Given the description of an element on the screen output the (x, y) to click on. 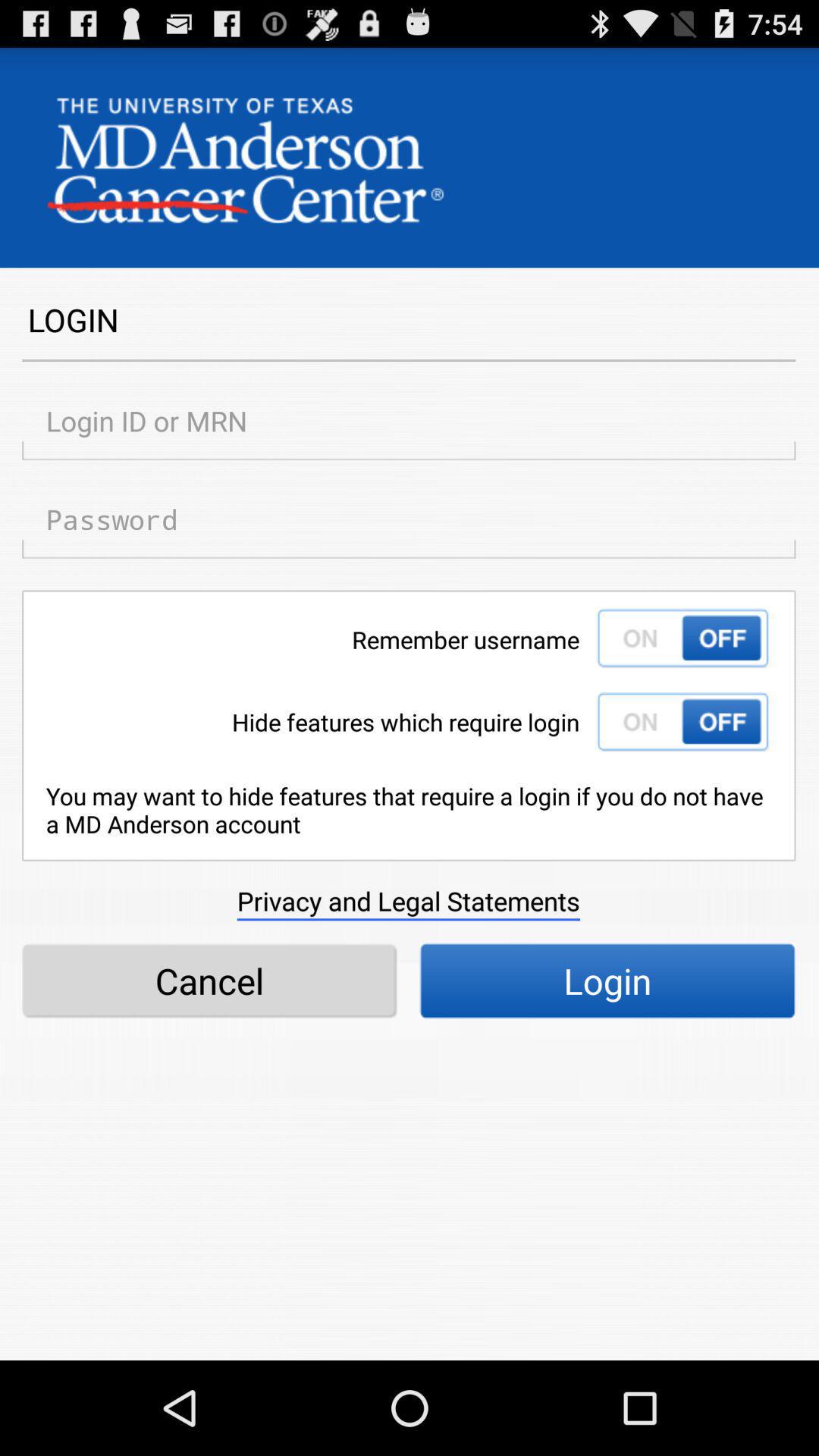
flip until the cancel item (209, 980)
